Given the description of an element on the screen output the (x, y) to click on. 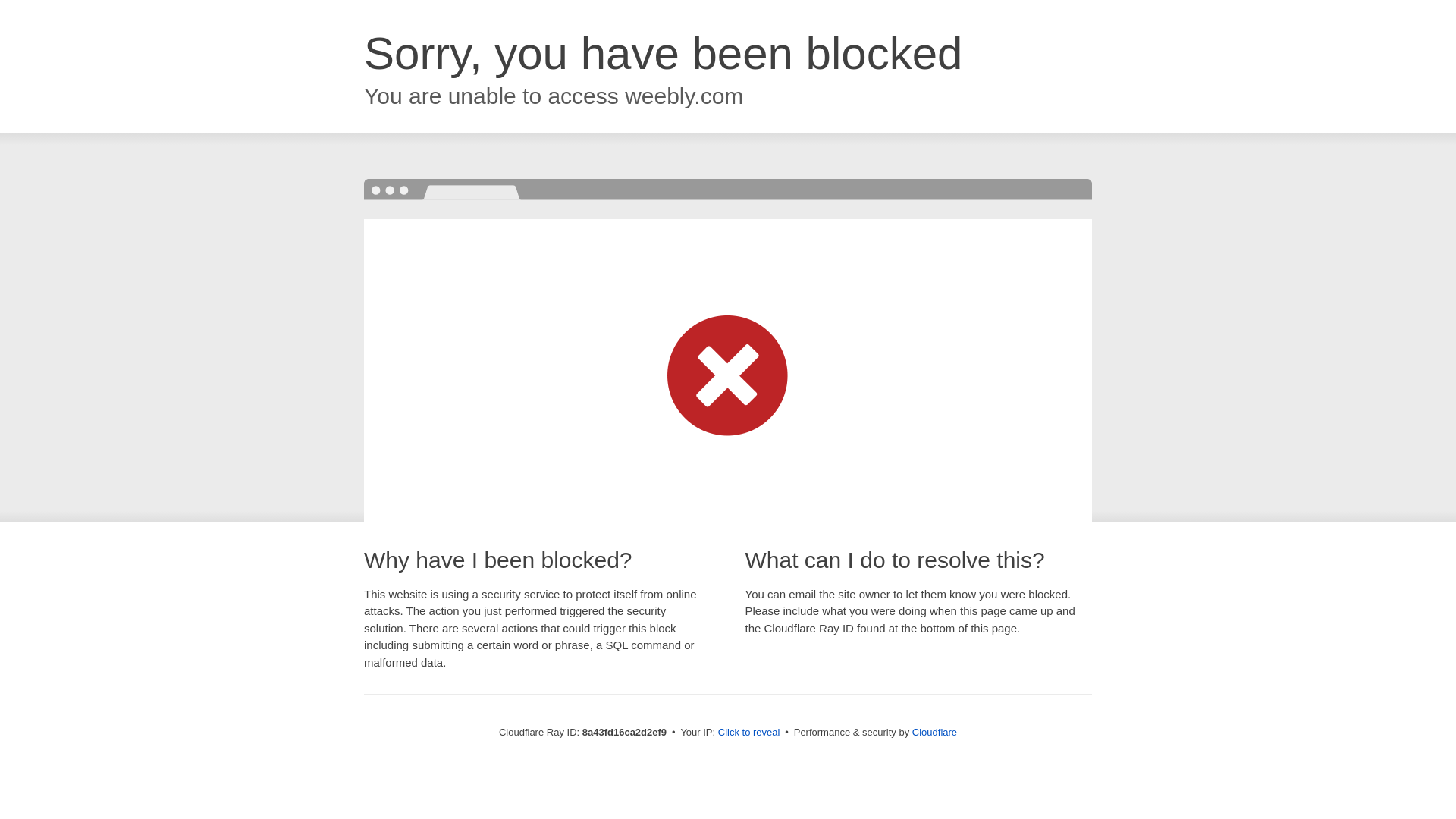
Click to reveal (748, 732)
Cloudflare (934, 731)
